Given the description of an element on the screen output the (x, y) to click on. 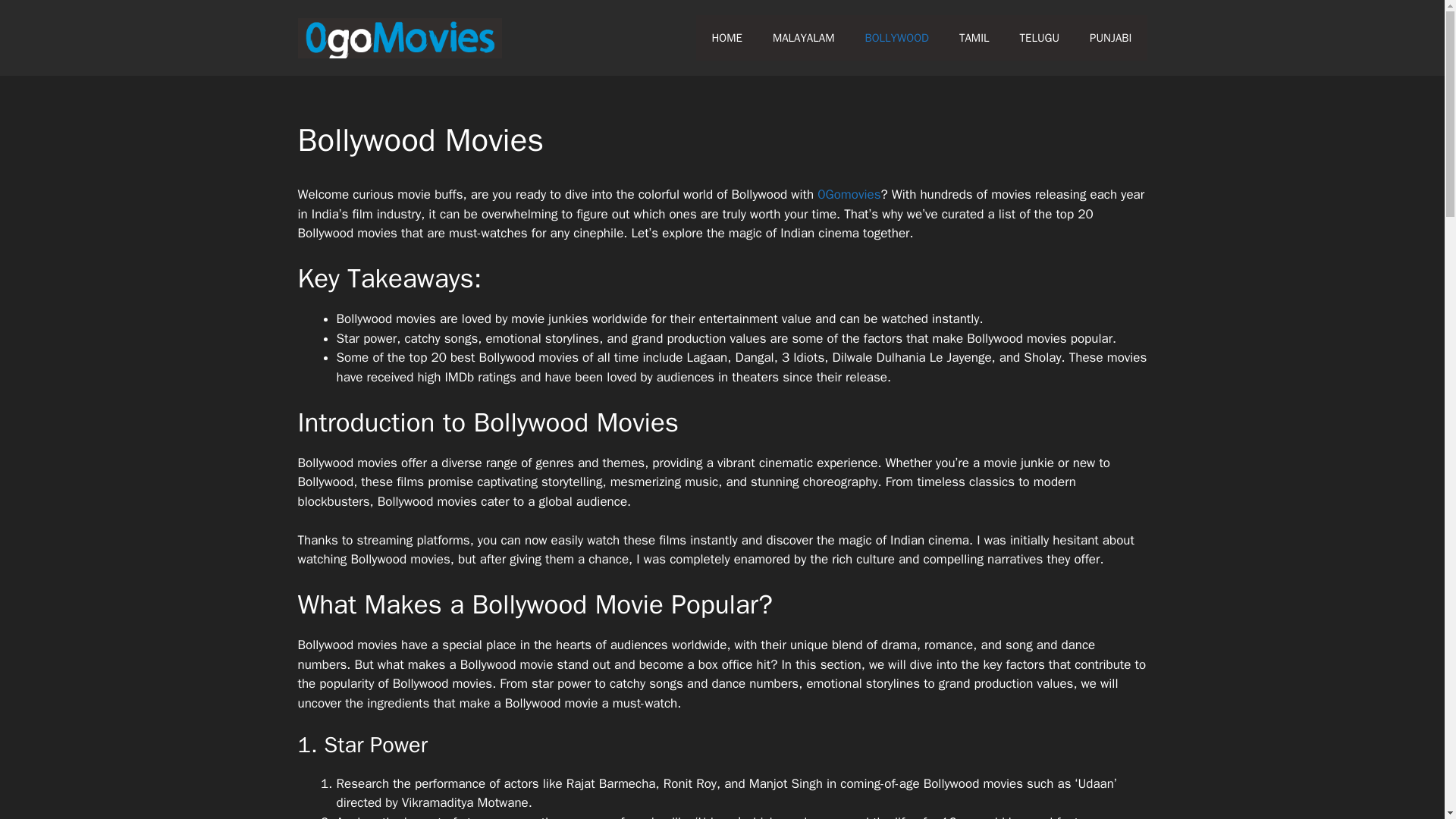
TELUGU (1039, 37)
0Gomovies (848, 194)
TAMIL (973, 37)
HOME (726, 37)
MALAYALAM (803, 37)
BOLLYWOOD (895, 37)
PUNJABI (1110, 37)
